Given the description of an element on the screen output the (x, y) to click on. 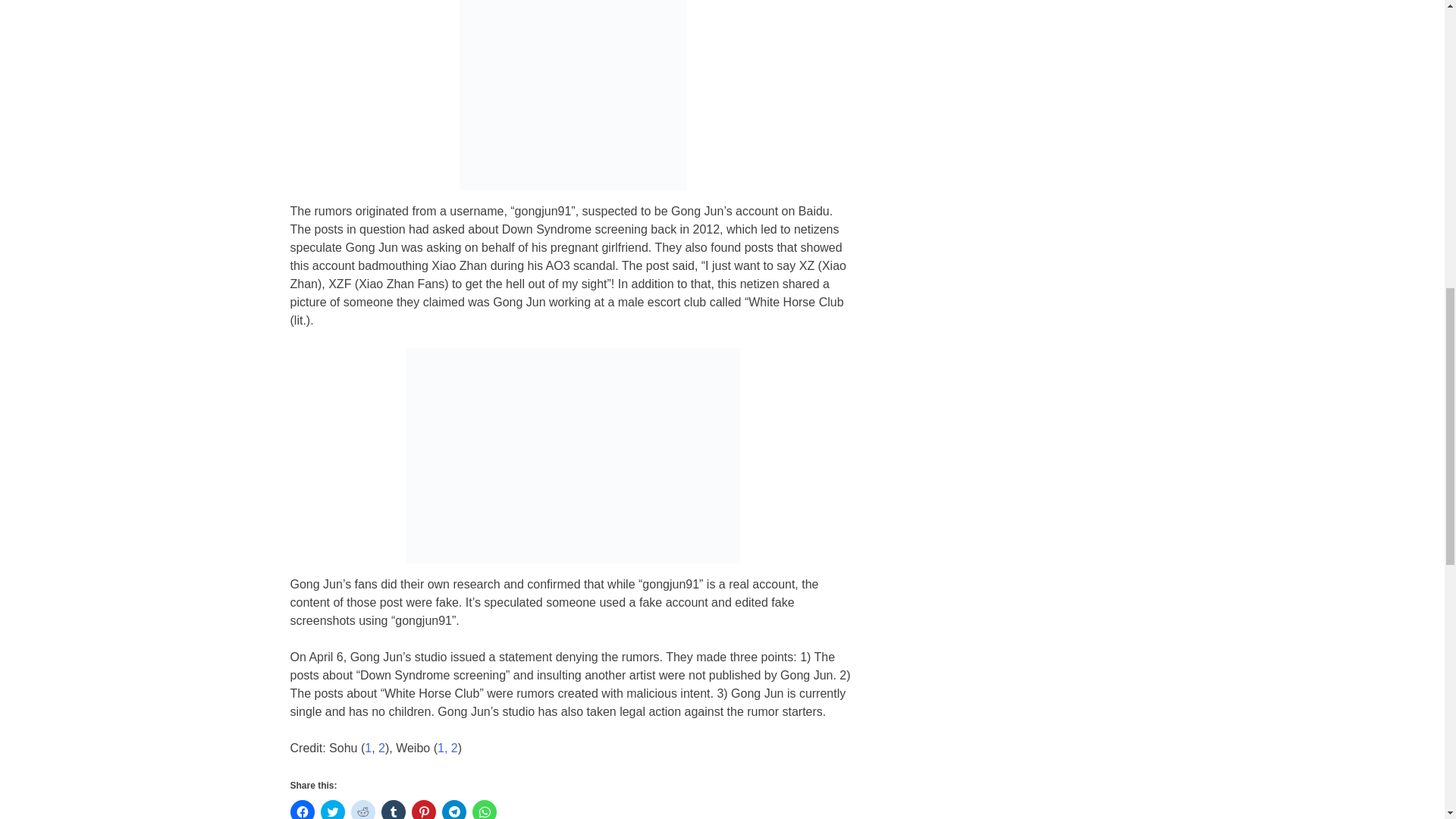
1 (368, 748)
Click to share on Pinterest (422, 809)
2 (381, 748)
Click to share on Reddit (362, 809)
2 (454, 748)
Click to share on WhatsApp (483, 809)
1, (442, 748)
Click to share on Twitter (331, 809)
Click to share on Facebook (301, 809)
Click to share on Tumblr (392, 809)
Click to share on Telegram (453, 809)
